Given the description of an element on the screen output the (x, y) to click on. 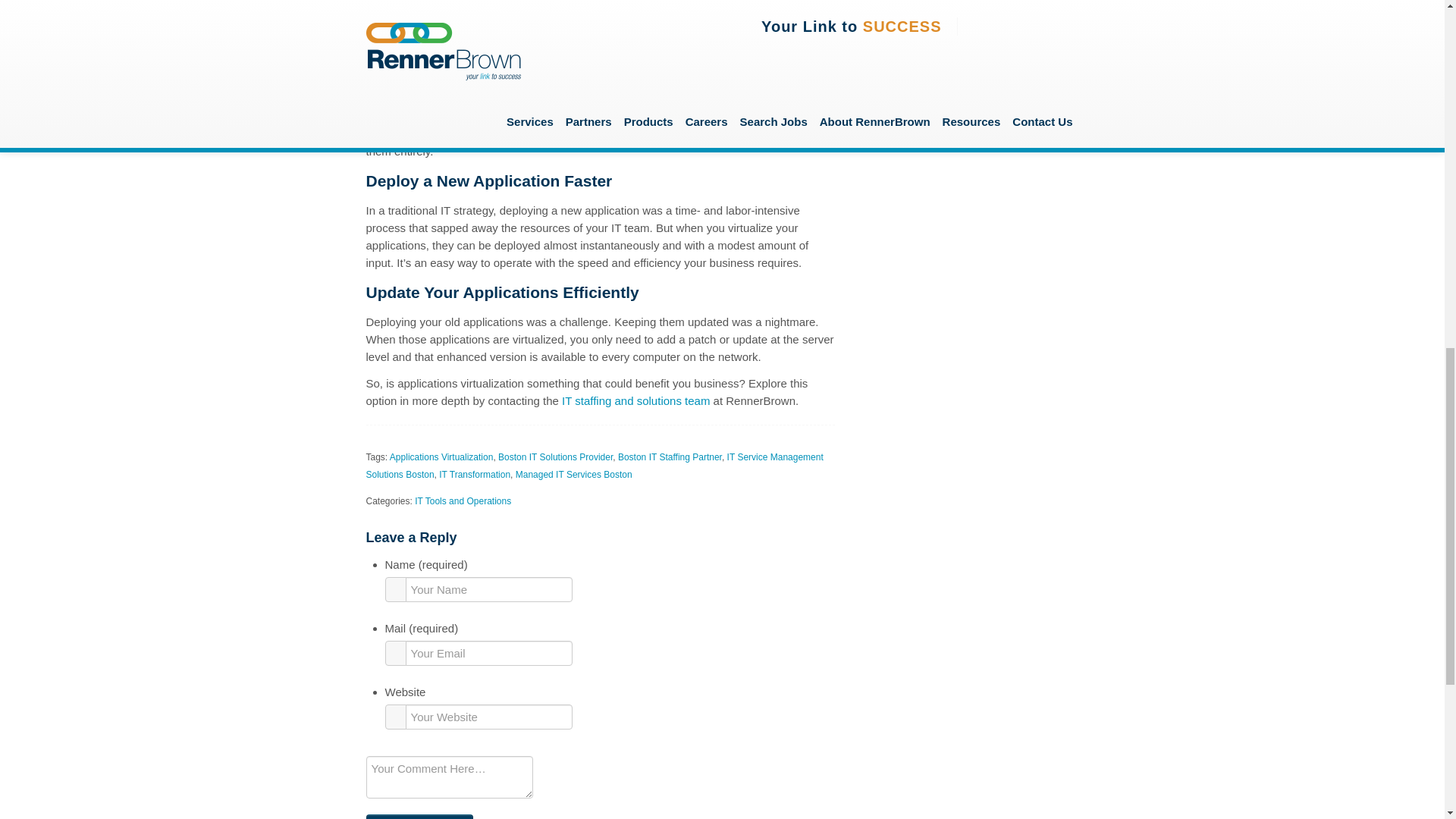
IT Service Management Solutions Boston (593, 465)
IT staffing and solutions team (636, 400)
IT Transformation (475, 474)
Applications Virtualization (441, 457)
Boston IT Solutions Provider (554, 457)
Boston IT Staffing Partner (669, 457)
Submit Comment (419, 816)
